Given the description of an element on the screen output the (x, y) to click on. 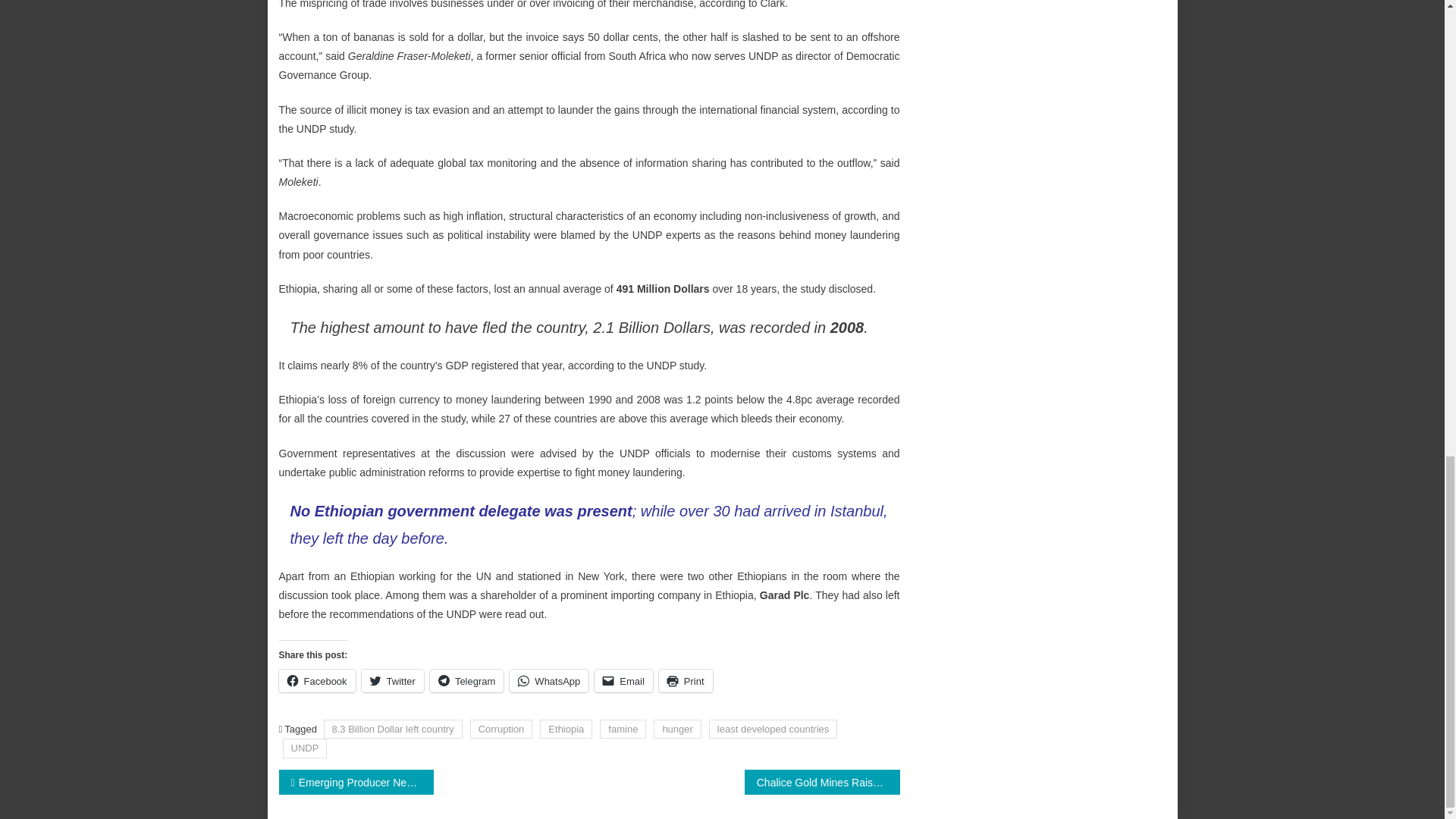
WhatsApp (548, 680)
Facebook (317, 680)
Telegram (466, 680)
Corruption (501, 728)
Click to email a link to a friend (623, 680)
Click to print (686, 680)
Email (623, 680)
8.3 Billion Dollar left country (393, 728)
Click to share on WhatsApp (548, 680)
Print (686, 680)
